Given the description of an element on the screen output the (x, y) to click on. 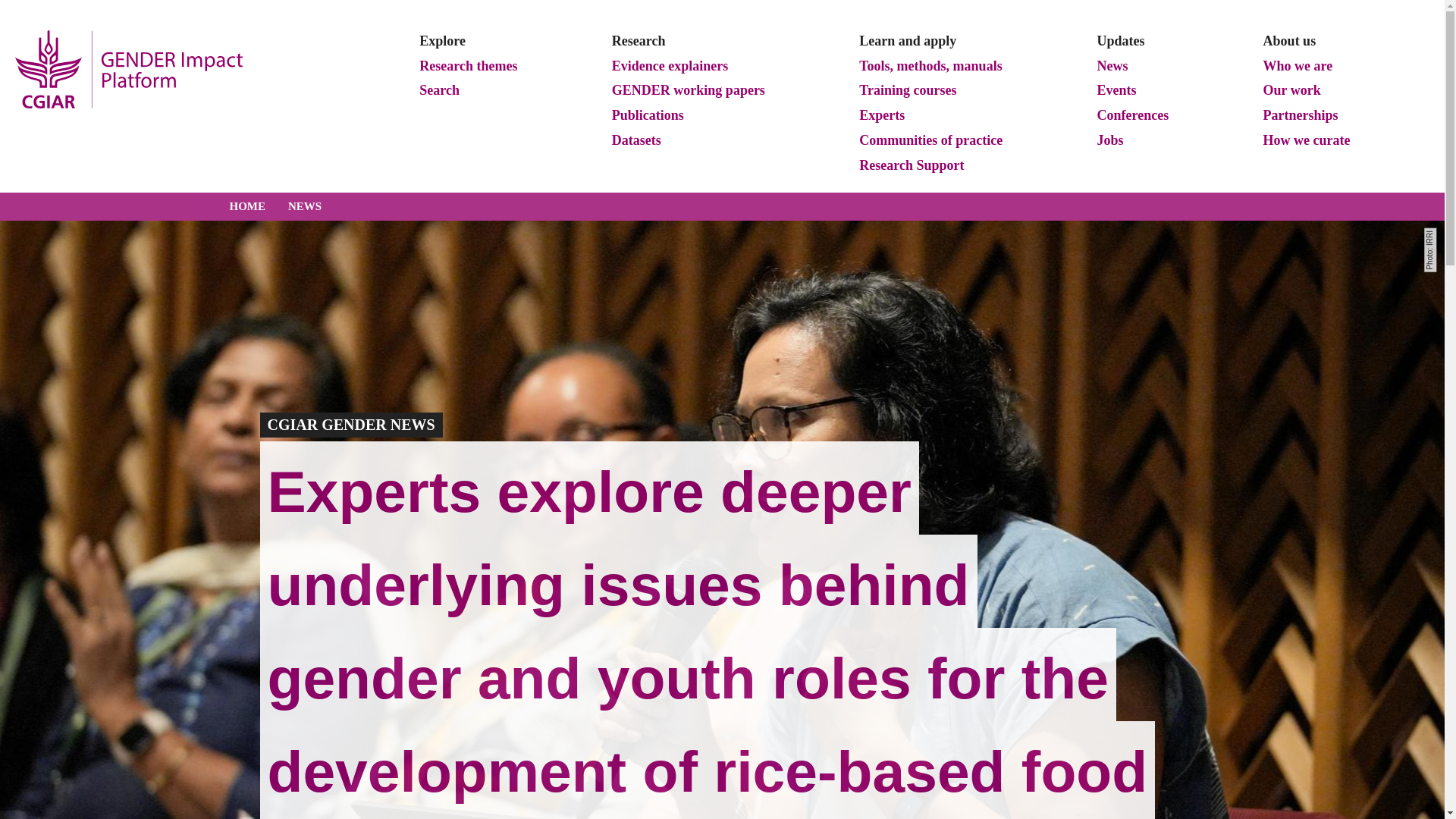
Partnerships (1300, 115)
Events (1116, 90)
Research Support (911, 165)
Jobs (1110, 140)
Who we are (1297, 66)
Conferences (1132, 115)
GENDER working papers (688, 90)
Training courses (907, 90)
How we curate (1306, 140)
News (1112, 66)
